Given the description of an element on the screen output the (x, y) to click on. 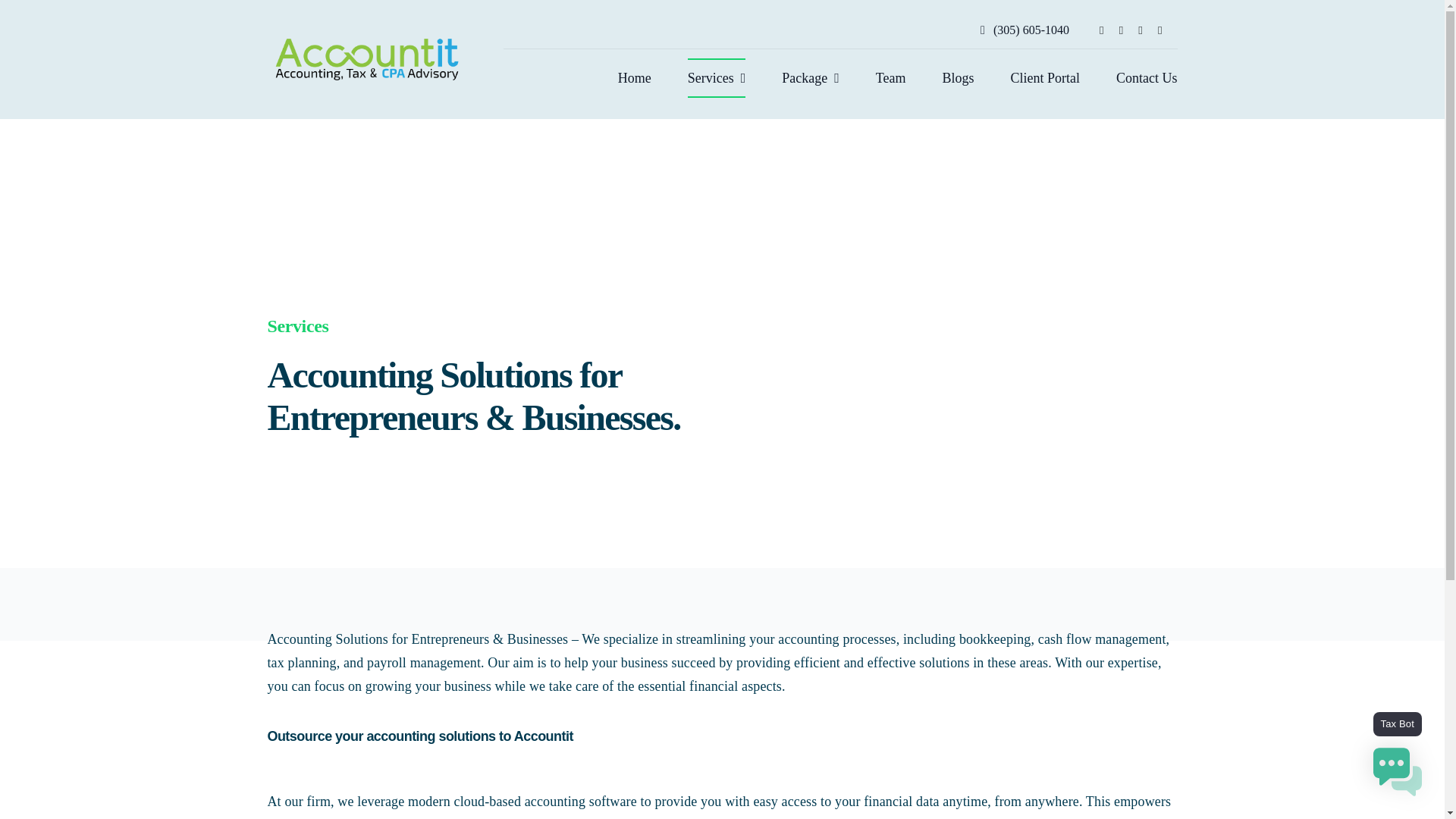
Contact Us (1146, 77)
Package (810, 77)
Blogs (958, 77)
Home (633, 77)
Team (890, 77)
Client Portal (1045, 77)
Services (716, 77)
